Given the description of an element on the screen output the (x, y) to click on. 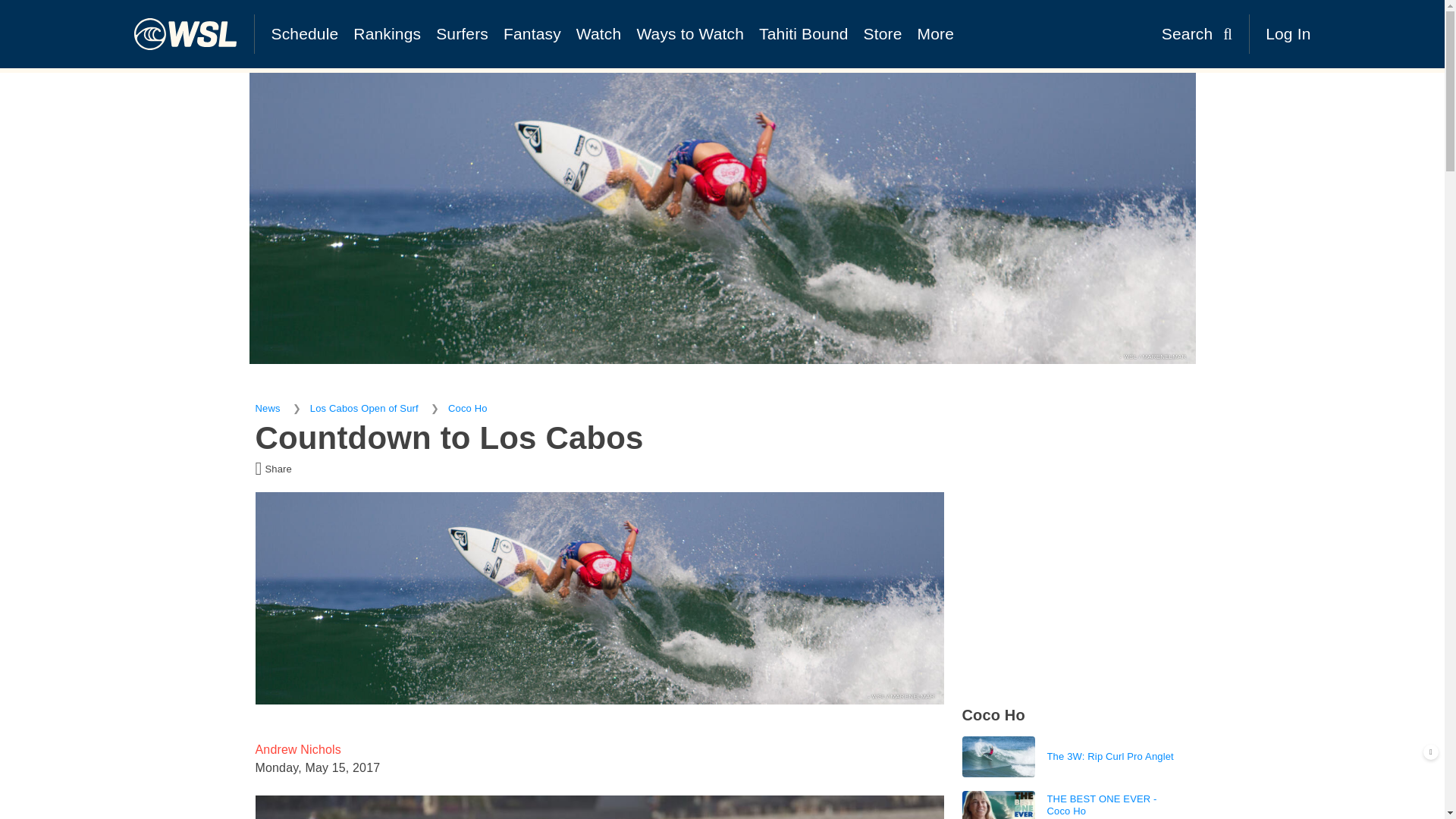
Schedule (304, 33)
Rankings (387, 33)
Coco Ho (467, 408)
Watch (598, 33)
Surfers (462, 33)
Search (1197, 33)
Fantasy (532, 33)
Ways to Watch (689, 33)
News (266, 408)
Los Cabos Open of Surf (364, 408)
